Given the description of an element on the screen output the (x, y) to click on. 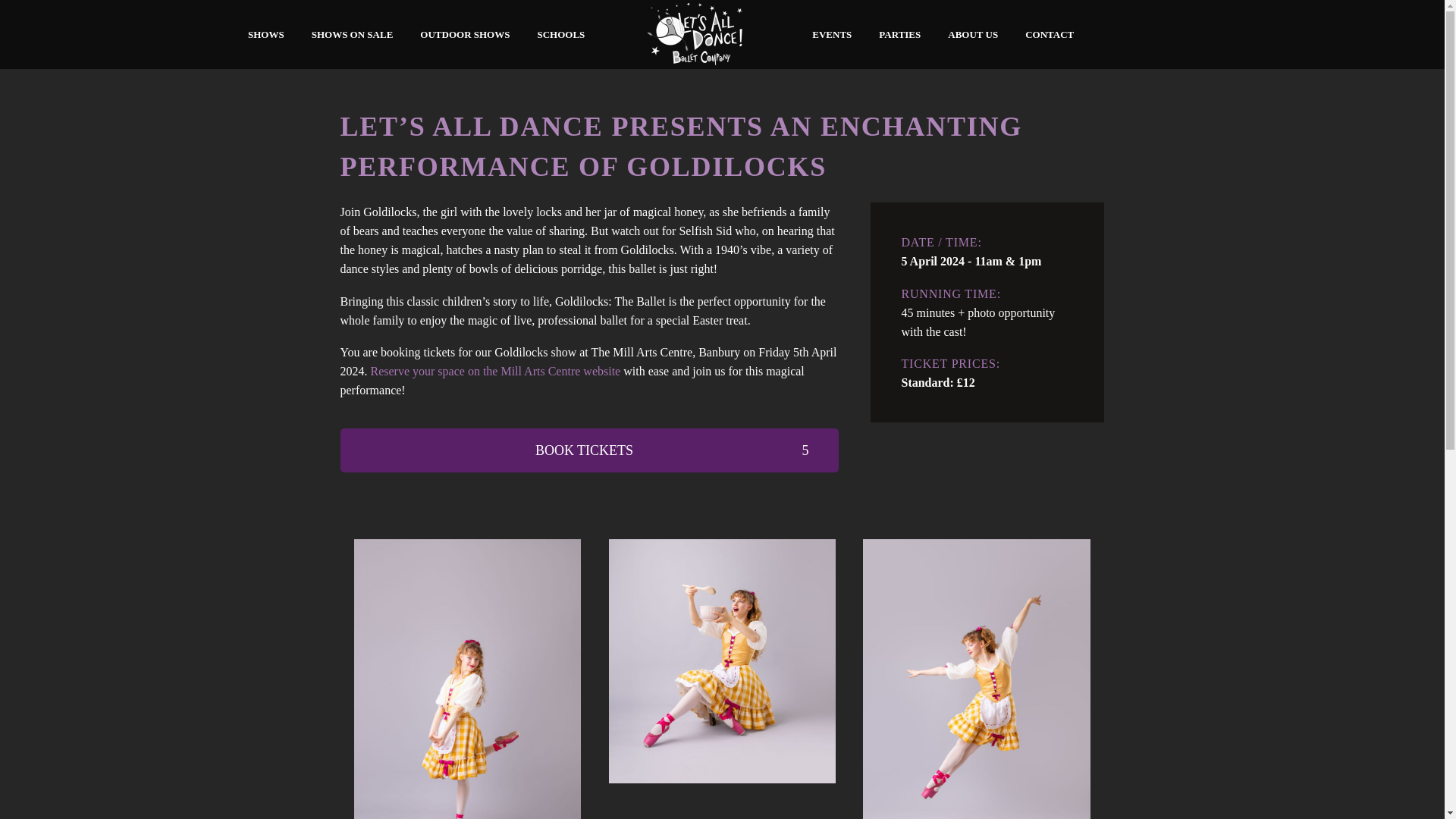
EVENTS (831, 34)
PARTIES (899, 34)
OUTDOOR SHOWS (465, 34)
ABOUT US (972, 34)
SHOWS ON SALE (351, 34)
SCHOOLS (560, 34)
SHOWS (265, 34)
CONTACT (1048, 34)
